Given the description of an element on the screen output the (x, y) to click on. 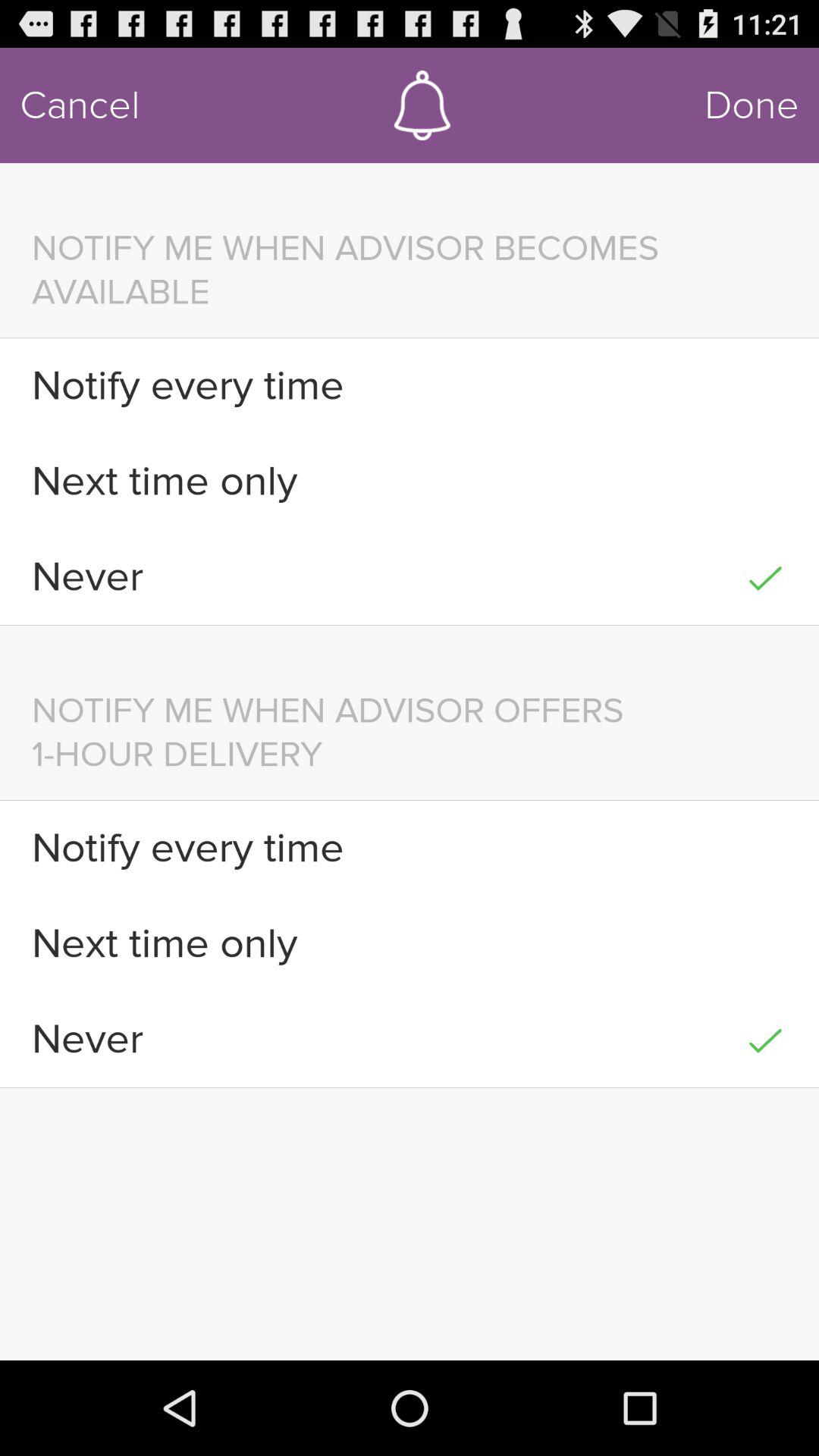
press item next to next time only (765, 481)
